Given the description of an element on the screen output the (x, y) to click on. 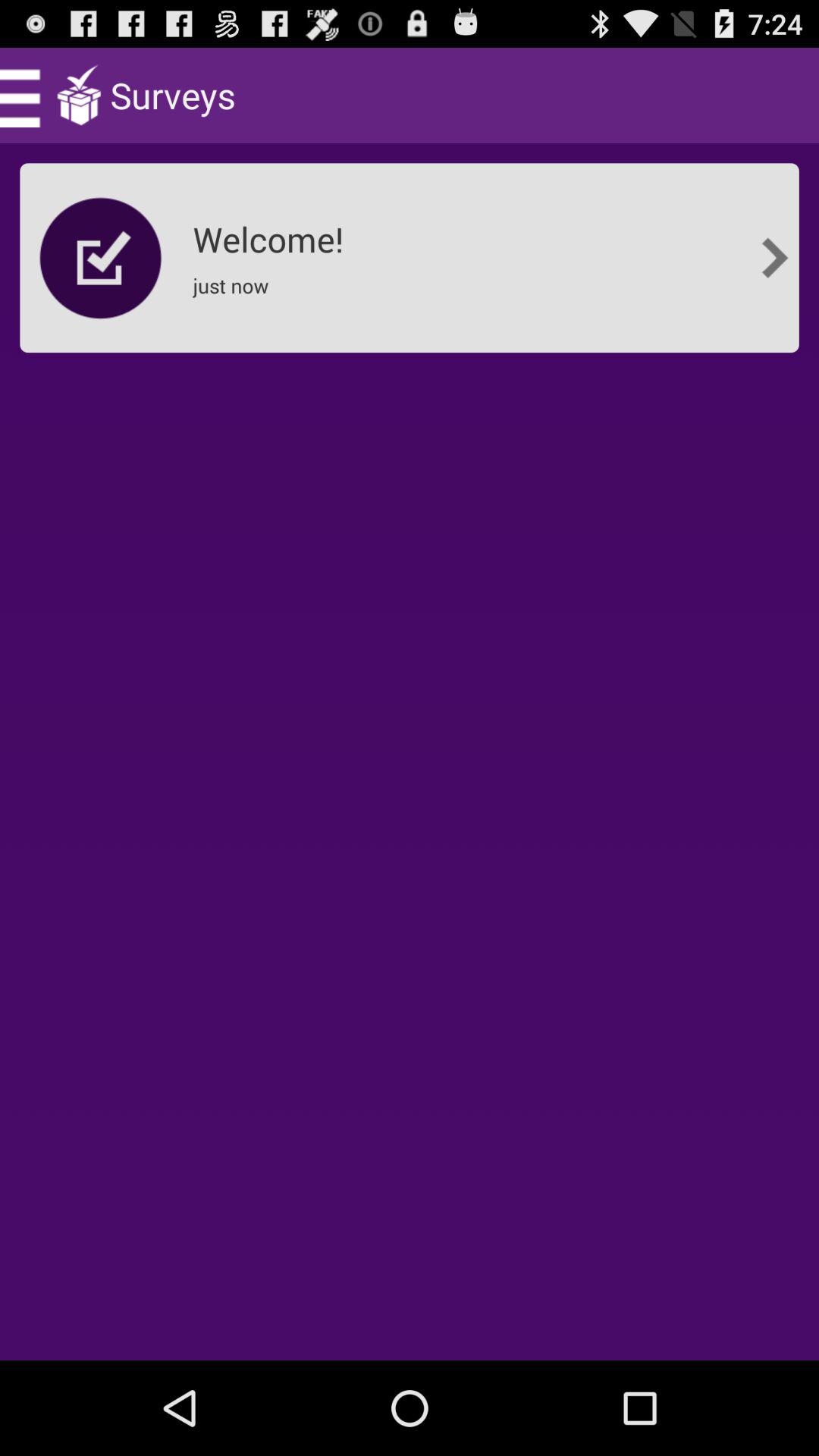
jump to welcome! item (272, 234)
